Given the description of an element on the screen output the (x, y) to click on. 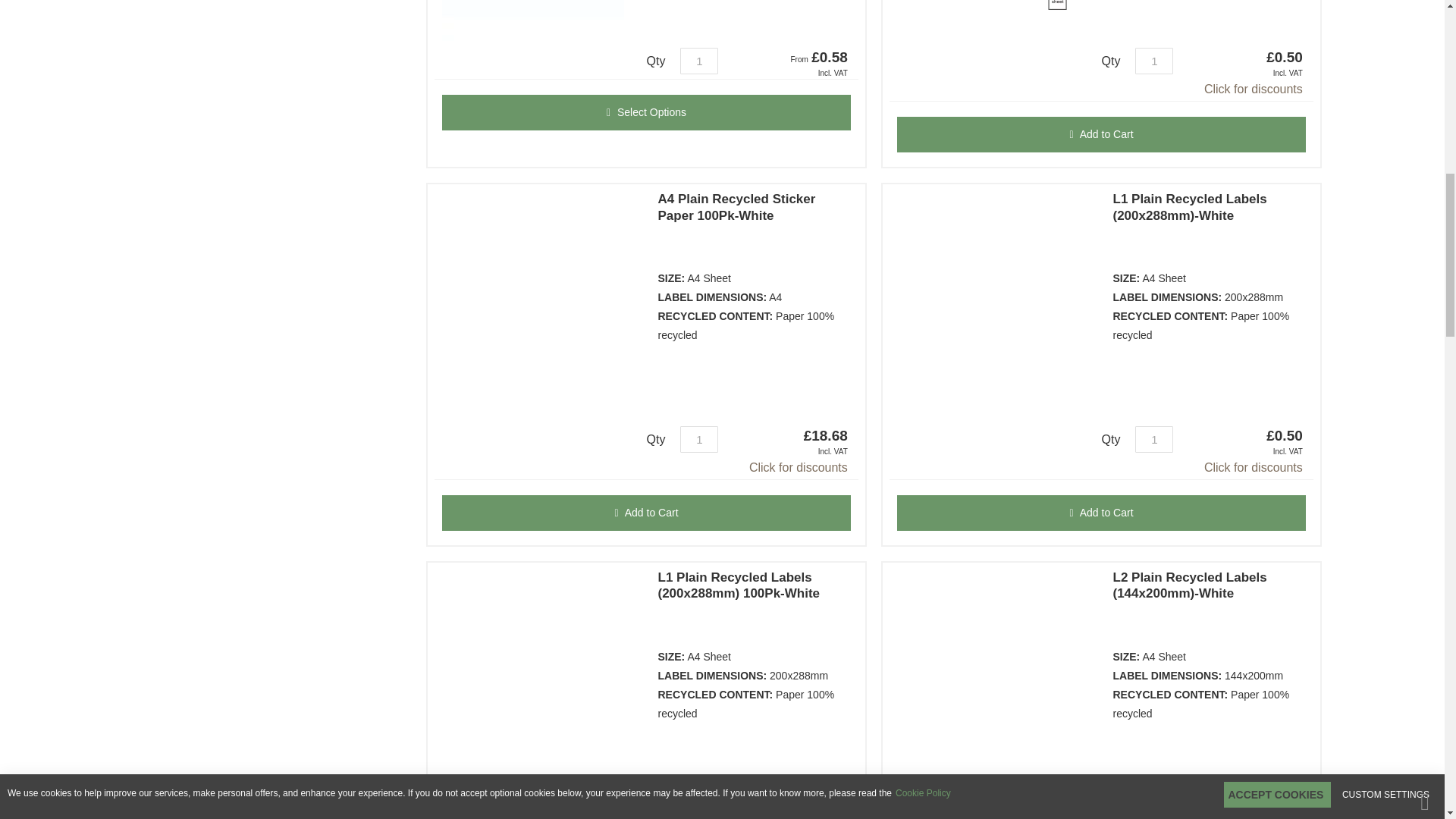
1 (698, 60)
1 (698, 811)
1 (1154, 60)
1 (1154, 811)
1 (698, 438)
Qty (698, 60)
1 (1154, 438)
